Given the description of an element on the screen output the (x, y) to click on. 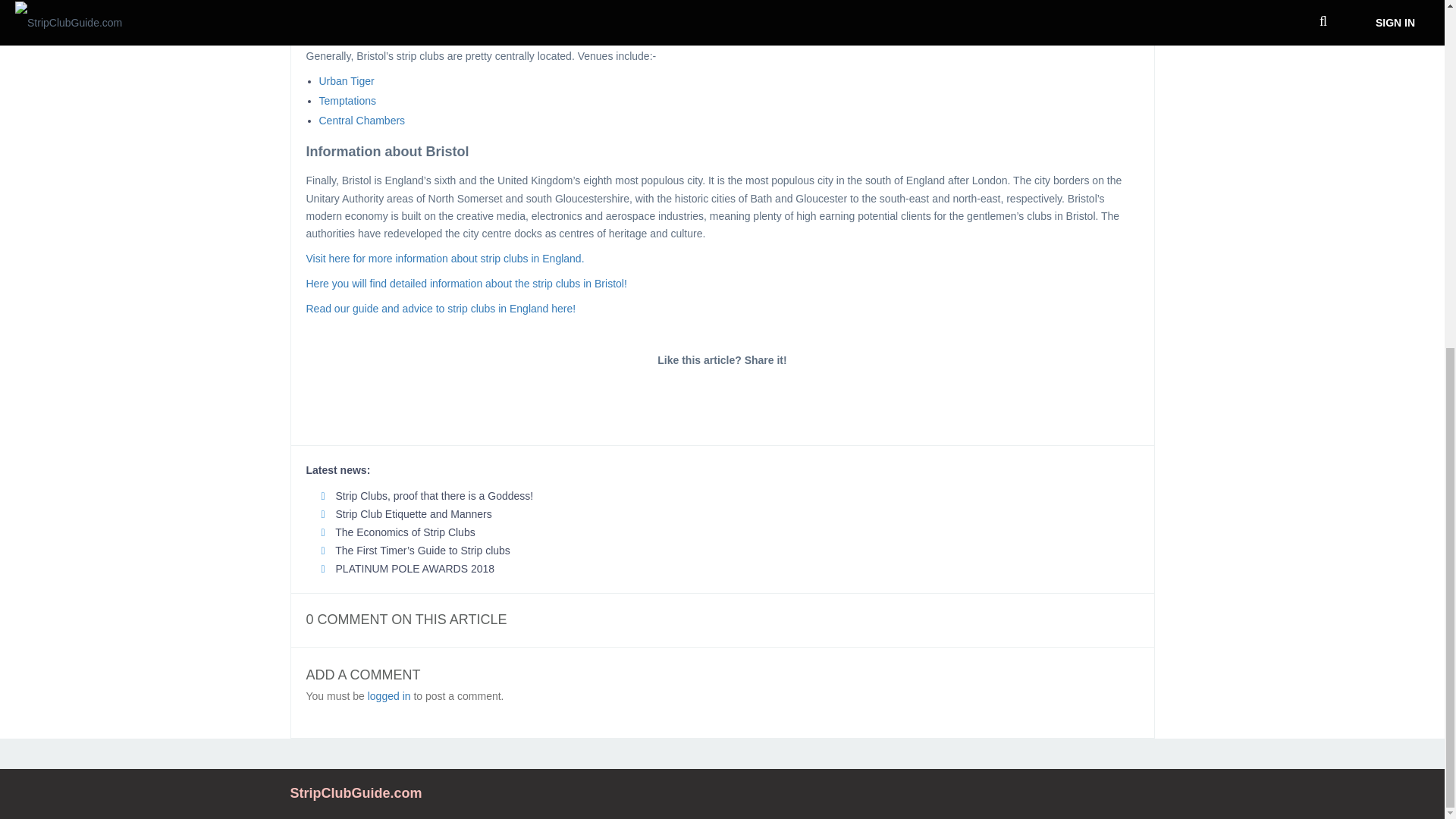
logged in (389, 695)
Temptations (346, 101)
StripClubGuide.com (355, 792)
Strip Club Etiquette and Manners (406, 513)
Pinterest (788, 395)
The Economics of Strip Clubs (398, 532)
Central Chambers (361, 120)
StripClubGuide.com (355, 792)
Linkedin (722, 395)
Urban Tiger (346, 80)
